Given the description of an element on the screen output the (x, y) to click on. 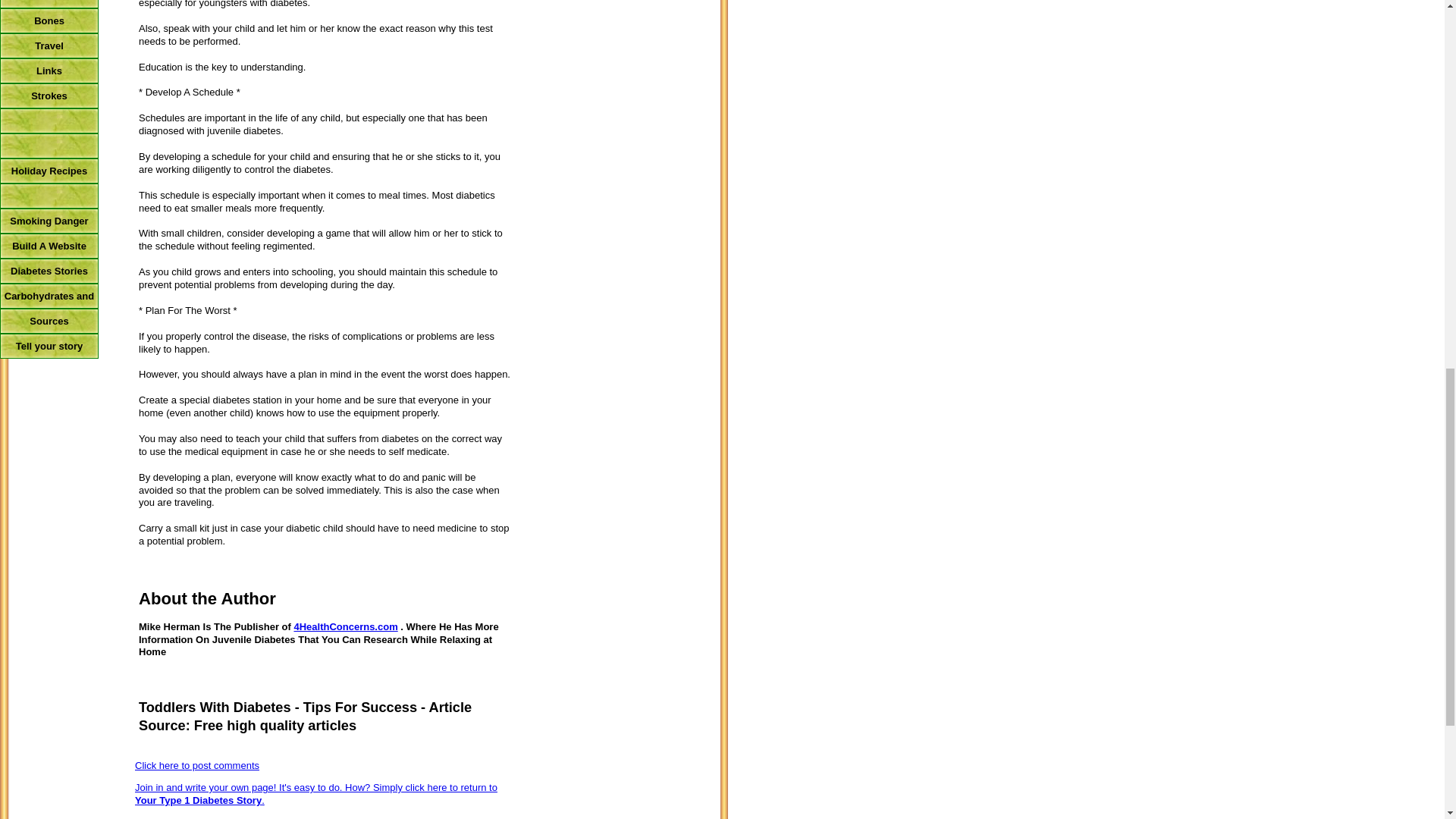
Dental Health (49, 4)
Strokes (49, 95)
4HealthConcerns.com (345, 626)
Links (49, 70)
Bones (49, 20)
Holiday Recipes (49, 170)
Travel (49, 45)
Click here to post comments (197, 765)
